Given the description of an element on the screen output the (x, y) to click on. 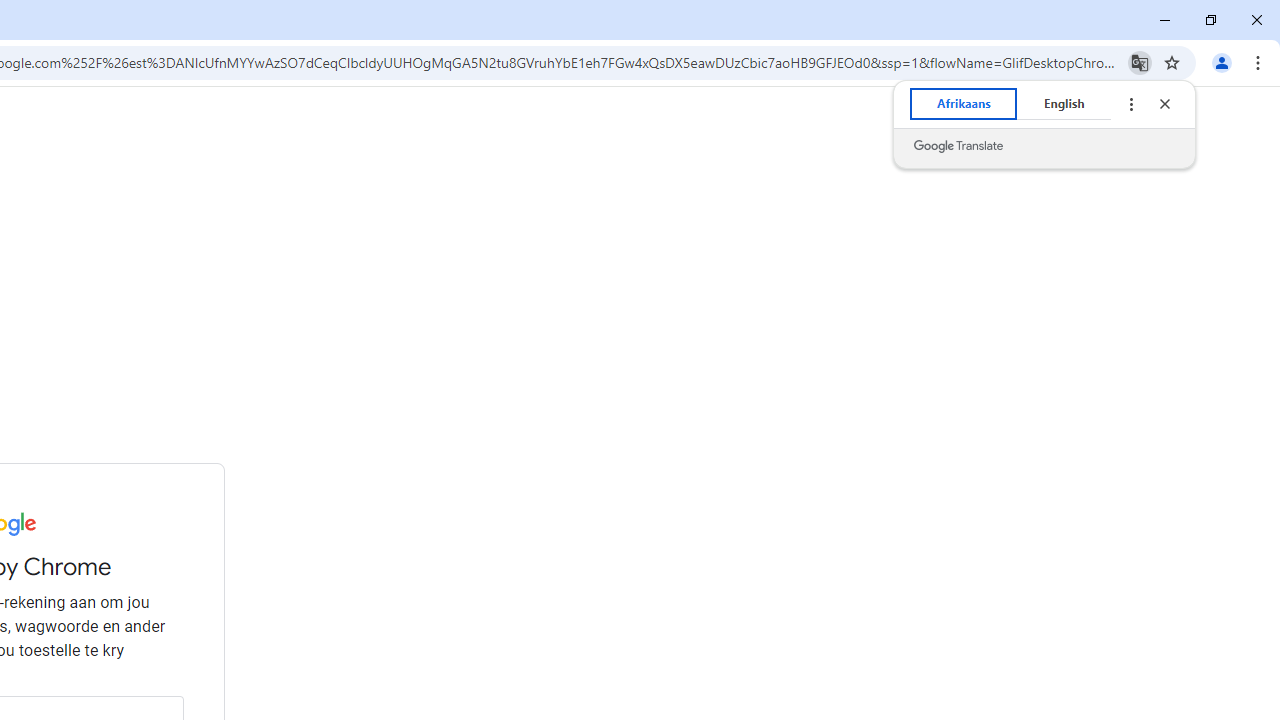
Afrikaans (963, 103)
Translate options (1130, 103)
English (1064, 103)
Translate this page (1139, 62)
